Given the description of an element on the screen output the (x, y) to click on. 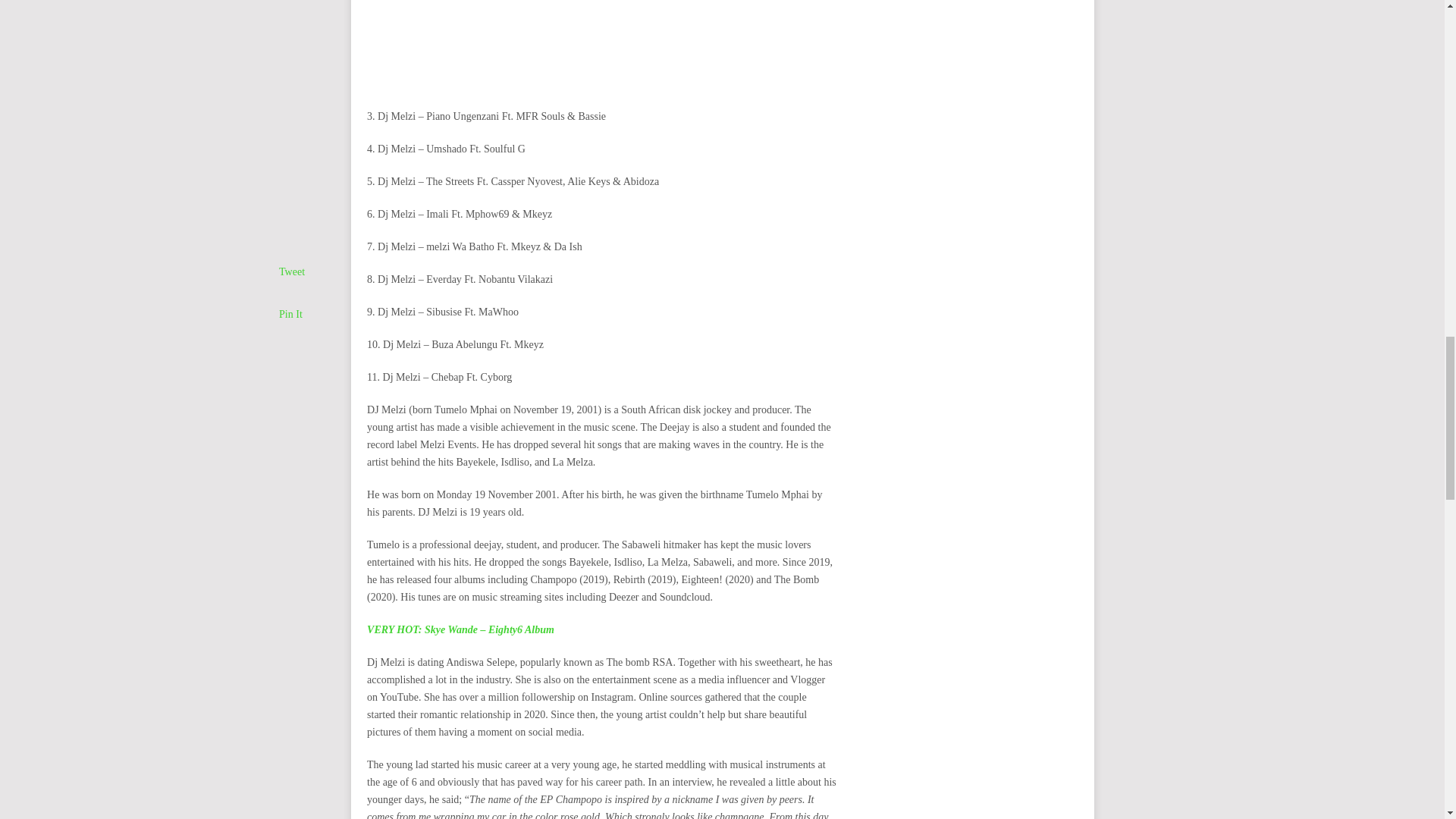
Advertisement (601, 50)
